Given the description of an element on the screen output the (x, y) to click on. 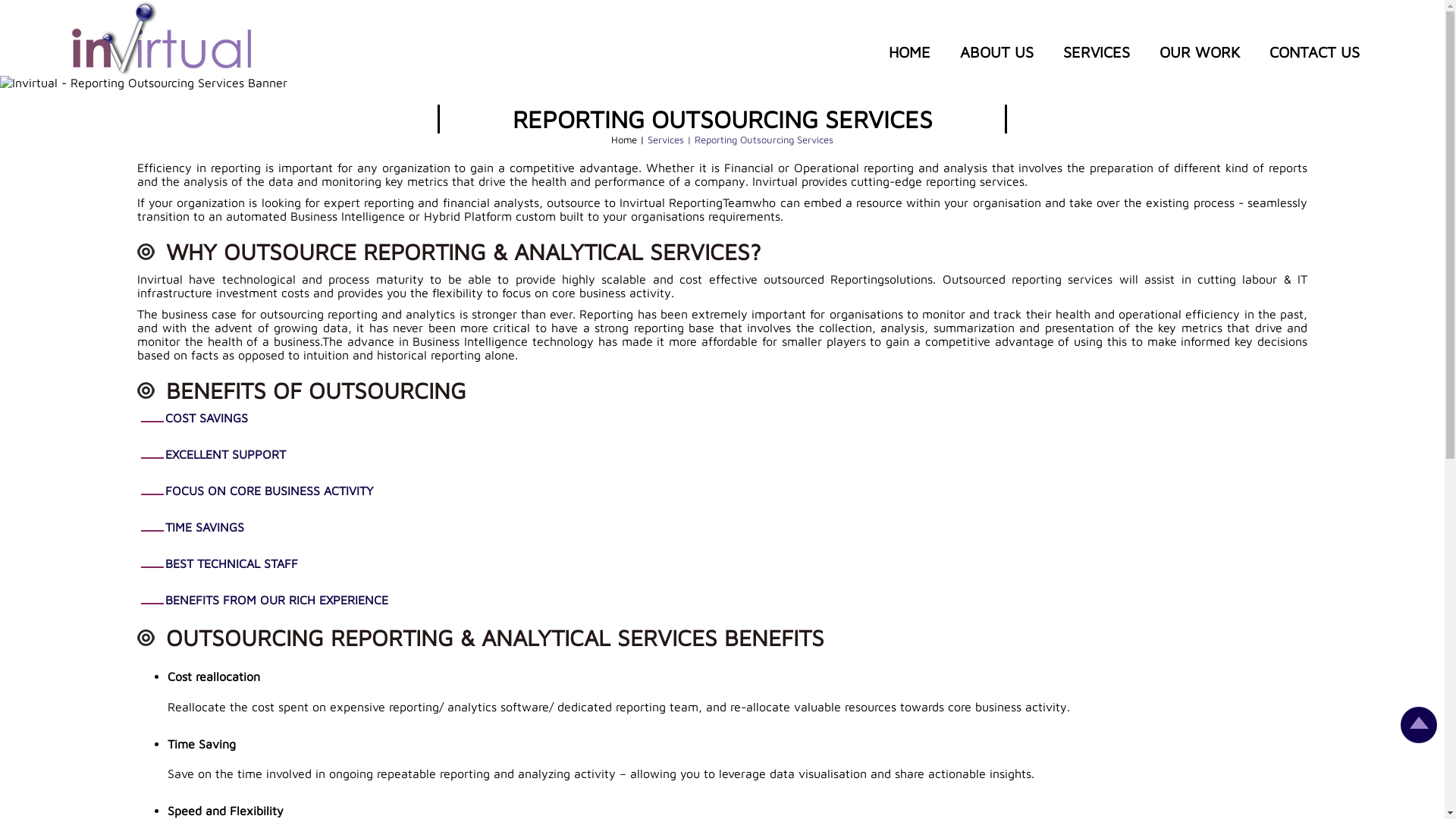
HOME Element type: text (909, 51)
Home Element type: text (625, 139)
SERVICES Element type: text (1096, 51)
CONTACT US Element type: text (1314, 51)
Invirtual - Top Element type: hover (1418, 738)
ABOUT US Element type: text (996, 51)
OUR WORK Element type: text (1199, 51)
